Given the description of an element on the screen output the (x, y) to click on. 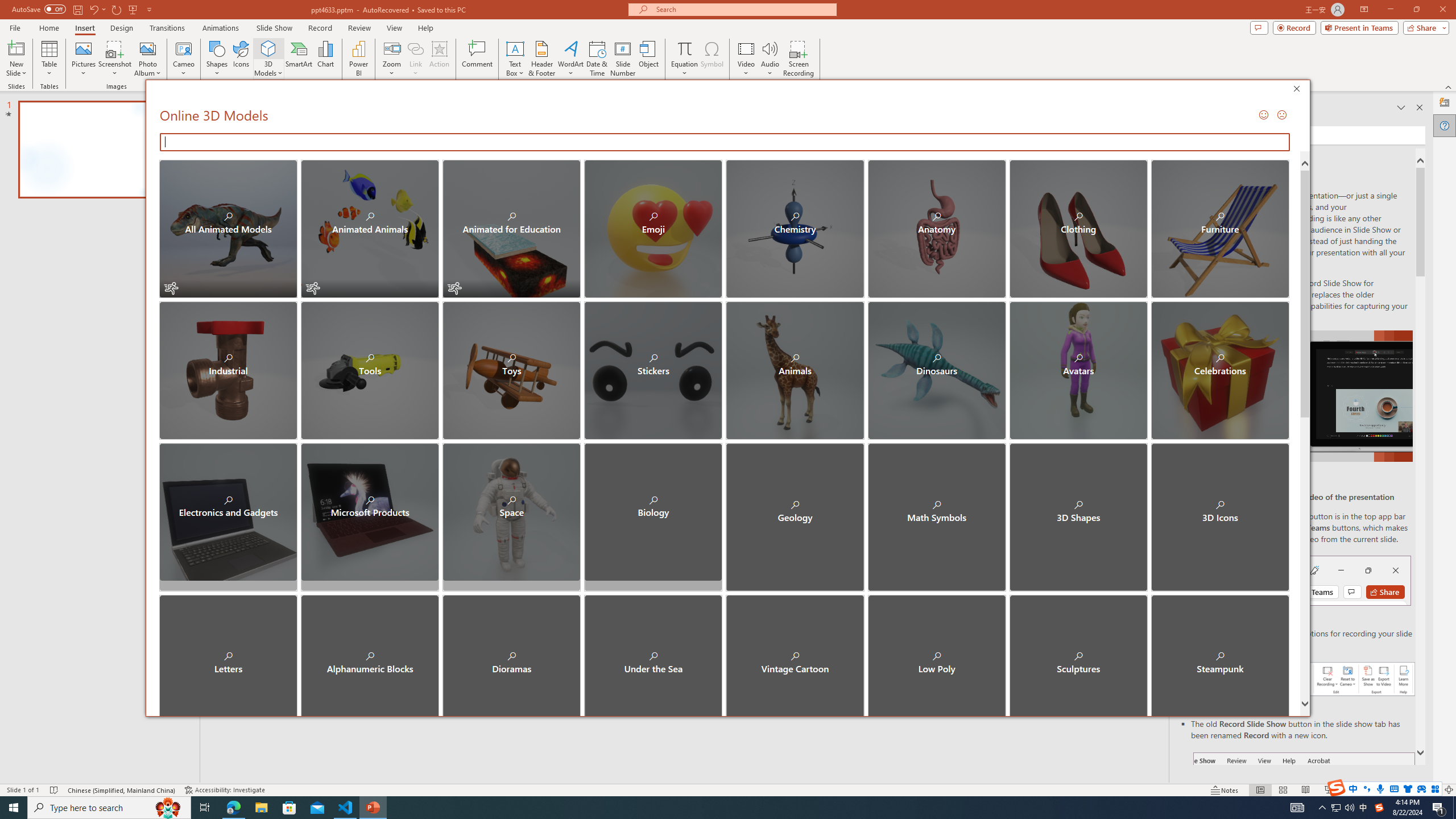
Chart... (325, 58)
Action Center, 1 new notification (1439, 807)
Symbol... (711, 58)
SmartArt... (298, 58)
